Given the description of an element on the screen output the (x, y) to click on. 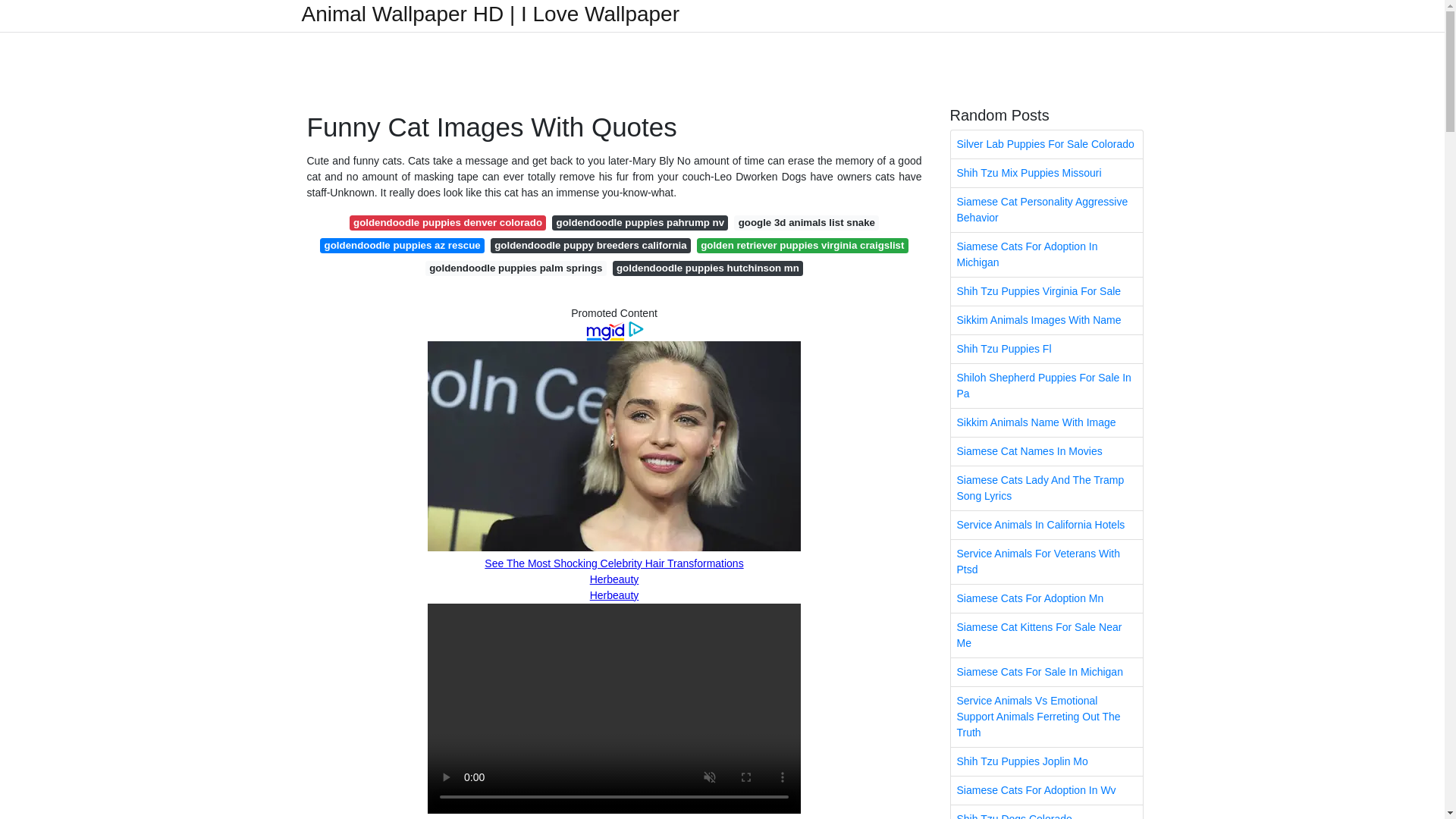
Silver Lab Puppies For Sale Colorado (1046, 144)
goldendoodle puppies denver colorado (448, 222)
Siamese Cat Personality Aggressive Behavior (1046, 209)
Siamese Cats For Adoption In Michigan (1046, 254)
goldendoodle puppy breeders california (590, 245)
goldendoodle puppies az rescue (402, 245)
Shih Tzu Puppies Fl (1046, 348)
Sikkim Animals Name With Image (1046, 422)
golden retriever puppies virginia craigslist (802, 245)
Shiloh Shepherd Puppies For Sale In Pa (1046, 385)
google 3d animals list snake (806, 222)
Shih Tzu Puppies Virginia For Sale (1046, 291)
Shih Tzu Mix Puppies Missouri (1046, 172)
goldendoodle puppies pahrump nv (639, 222)
Siamese Cat Names In Movies (1046, 451)
